Given the description of an element on the screen output the (x, y) to click on. 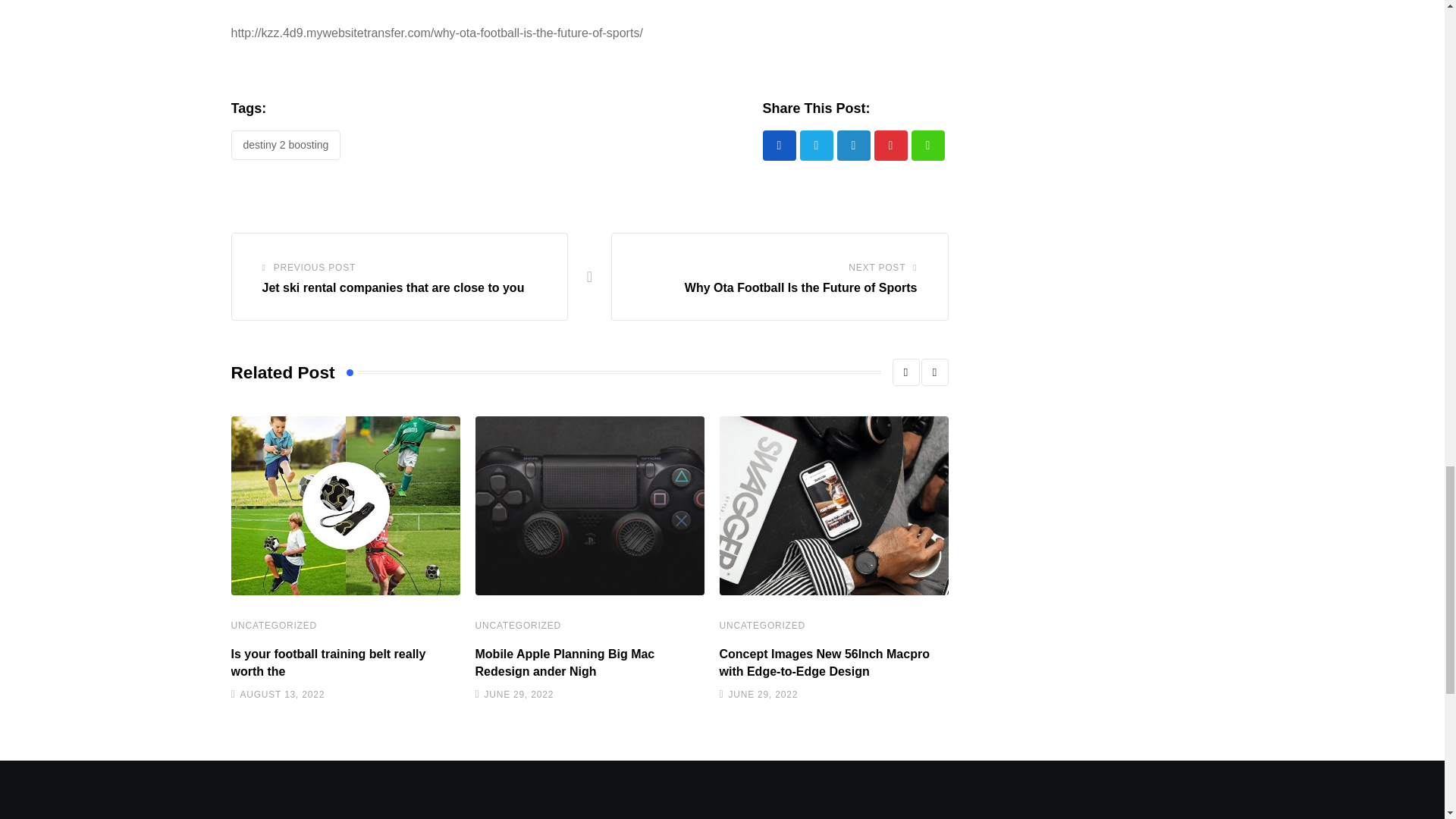
destiny 2 boosting (285, 145)
Whatsapp (927, 145)
PREVIOUS POST (314, 267)
Pinterest (890, 145)
NEXT POST (876, 267)
Jet ski rental companies that are close to you (393, 287)
Why Ota Football Is the Future of Sports (800, 287)
LinkedIn (853, 145)
